Given the description of an element on the screen output the (x, y) to click on. 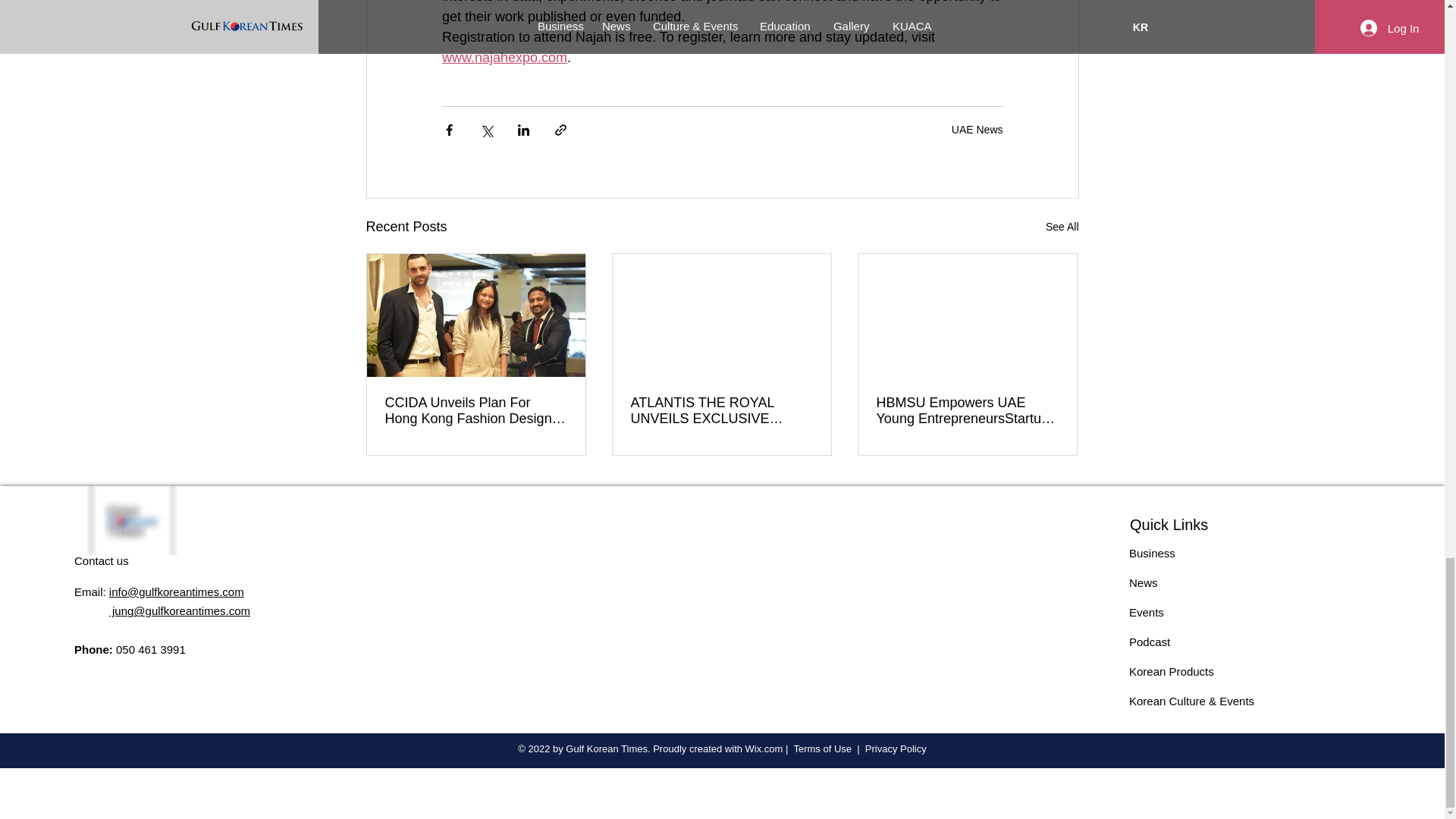
Business (1151, 553)
News (1143, 582)
See All (1061, 227)
Podcast (1149, 641)
ATLANTIS THE ROYAL UNVEILS EXCLUSIVE SUMMER OFFER (721, 410)
Events (1146, 612)
UAE News (977, 129)
www.najahexpo.com (503, 57)
Korean Products (1171, 671)
